Given the description of an element on the screen output the (x, y) to click on. 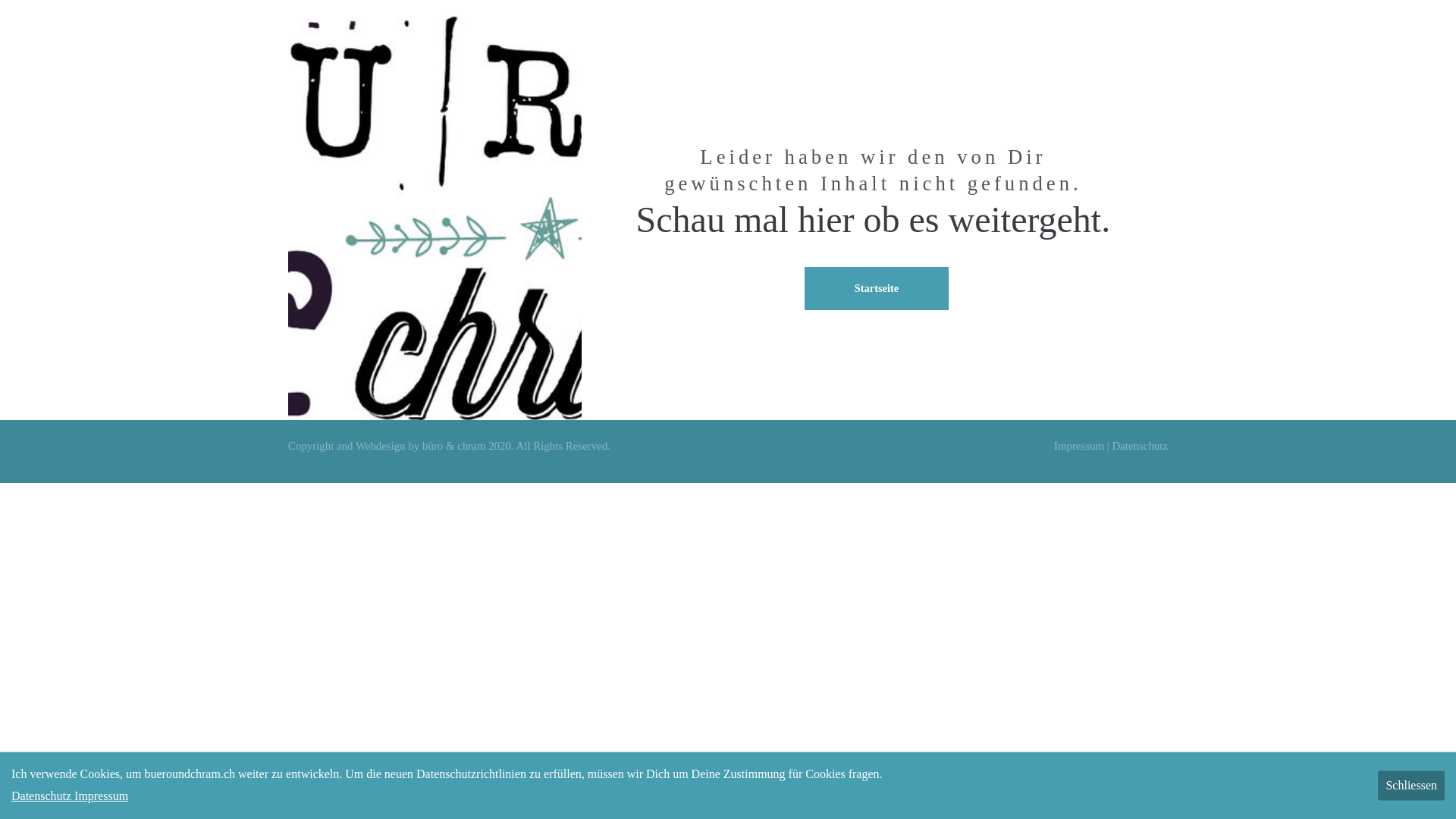
Impressum | Datenschutz Element type: text (1110, 445)
Startseite Element type: text (876, 288)
Datenschutz Impressum Element type: text (69, 795)
